Given the description of an element on the screen output the (x, y) to click on. 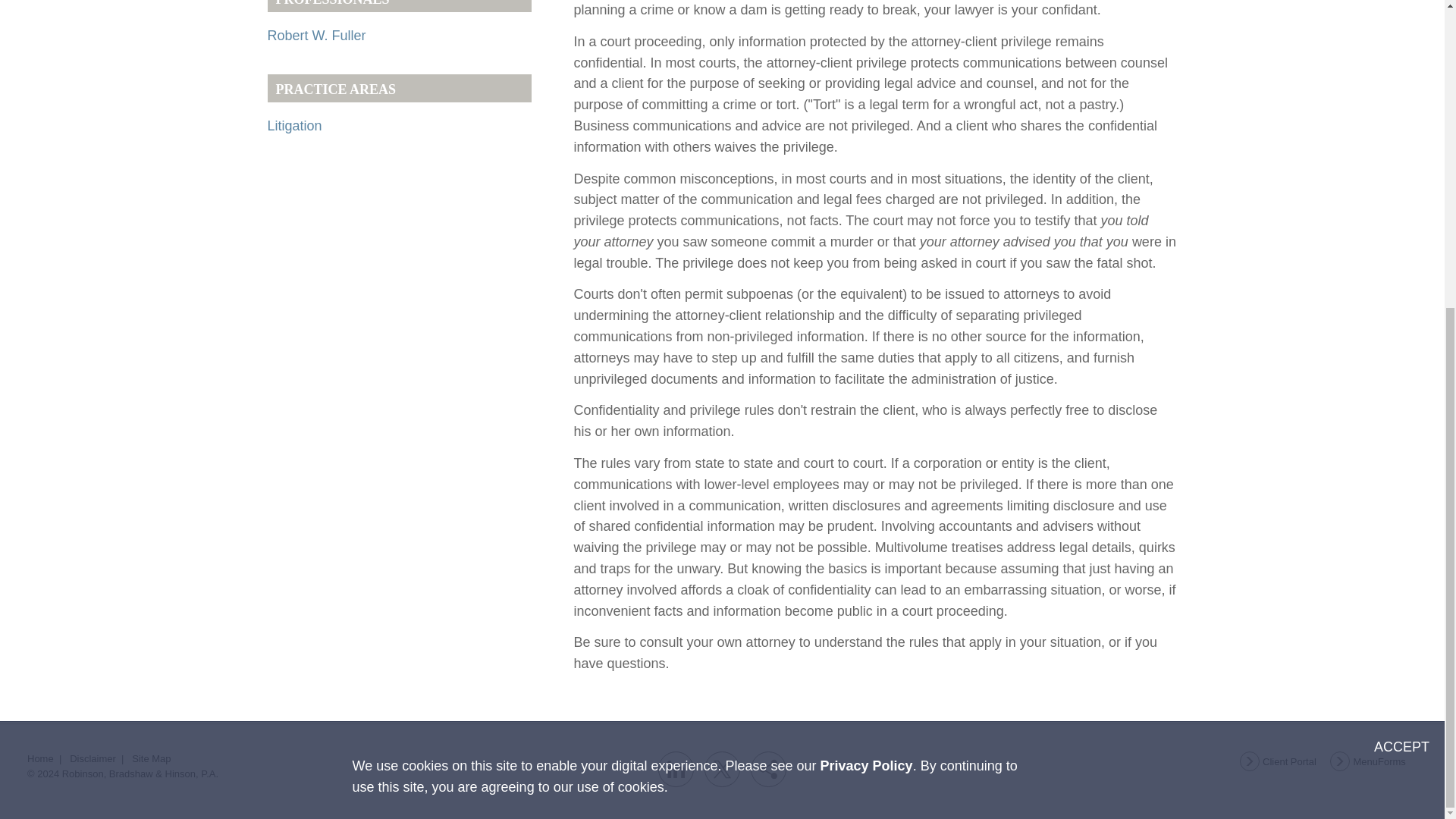
Share (768, 769)
ACCEPT (1401, 260)
Privacy Policy (866, 279)
LinkedIn (676, 769)
